Given the description of an element on the screen output the (x, y) to click on. 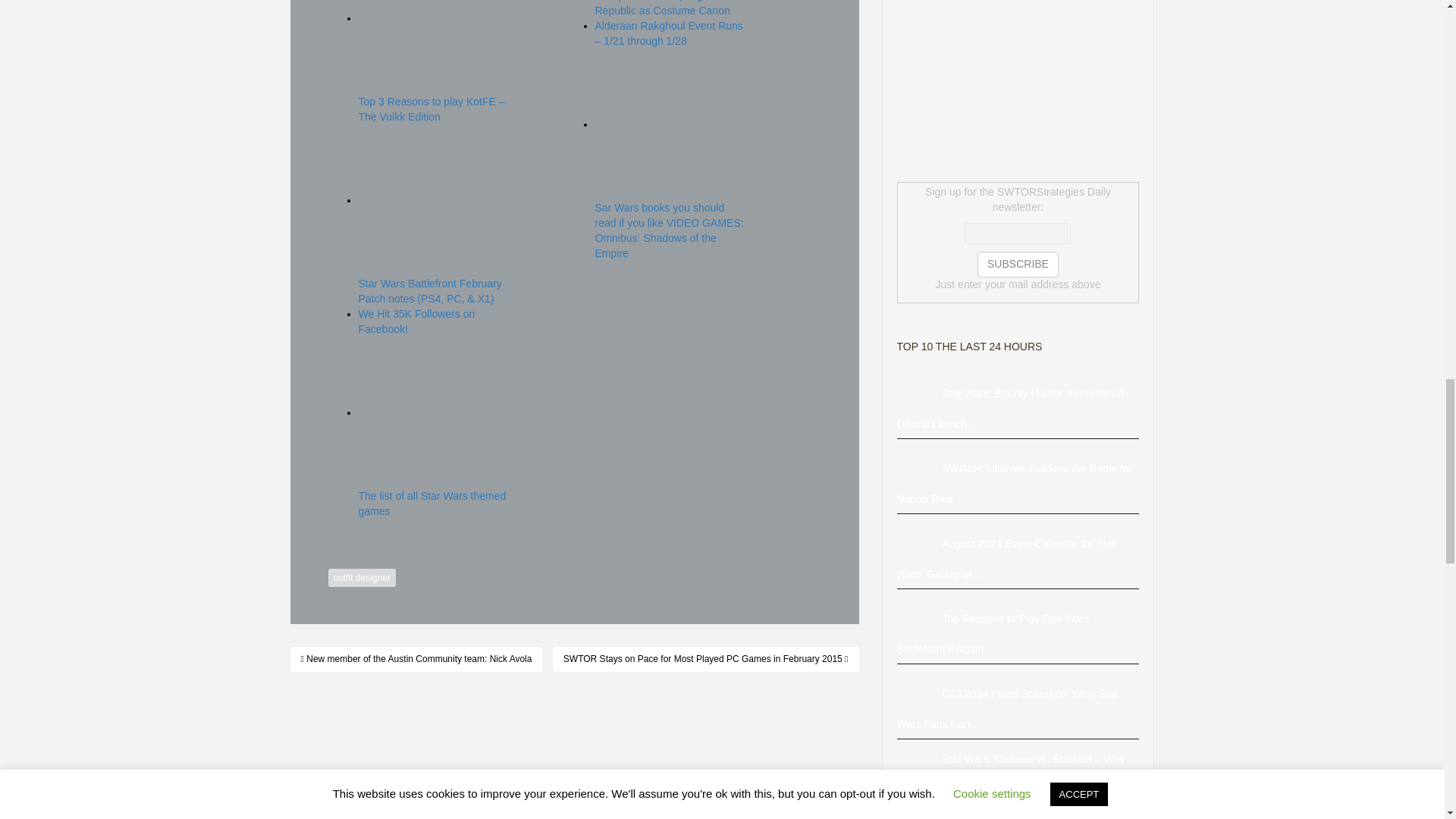
Subscribe (1017, 264)
Top Reasons to Play Star Wars Battlefront II Again (919, 619)
SWTOR Game Update 4.0.2 Patch Notes (919, 810)
SWGoH: Ultimate Guide to the Battle for Naboo Raid (919, 469)
